Given the description of an element on the screen output the (x, y) to click on. 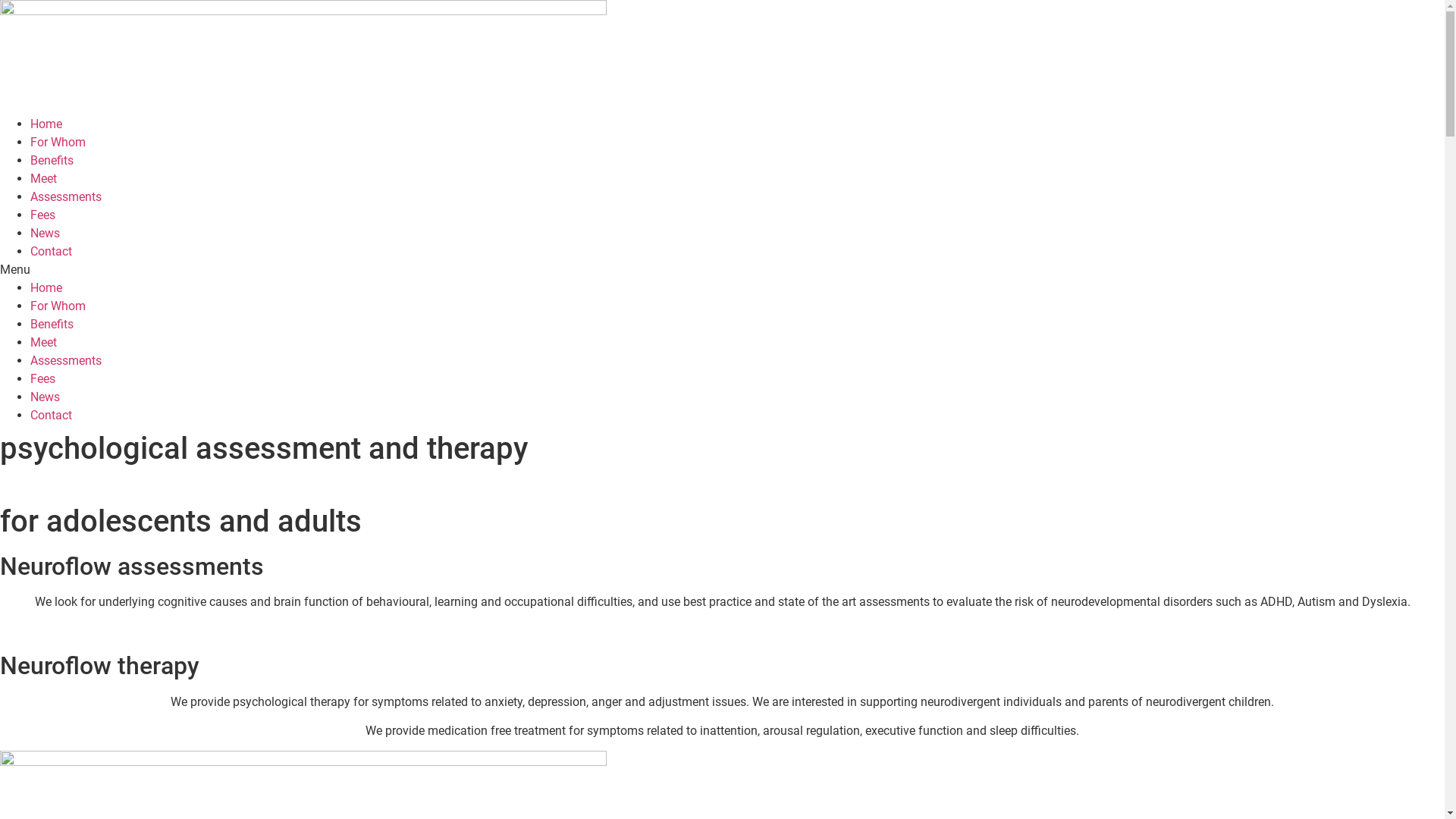
Meet Element type: text (43, 178)
For Whom Element type: text (57, 305)
Assessments Element type: text (65, 196)
Meet Element type: text (43, 342)
Benefits Element type: text (51, 160)
News Element type: text (44, 232)
Home Element type: text (46, 123)
Contact Element type: text (51, 251)
For Whom Element type: text (57, 141)
Fees Element type: text (42, 378)
Assessments Element type: text (65, 360)
Contact Element type: text (51, 414)
Benefits Element type: text (51, 323)
Home Element type: text (46, 287)
News Element type: text (44, 396)
Fees Element type: text (42, 214)
